Given the description of an element on the screen output the (x, y) to click on. 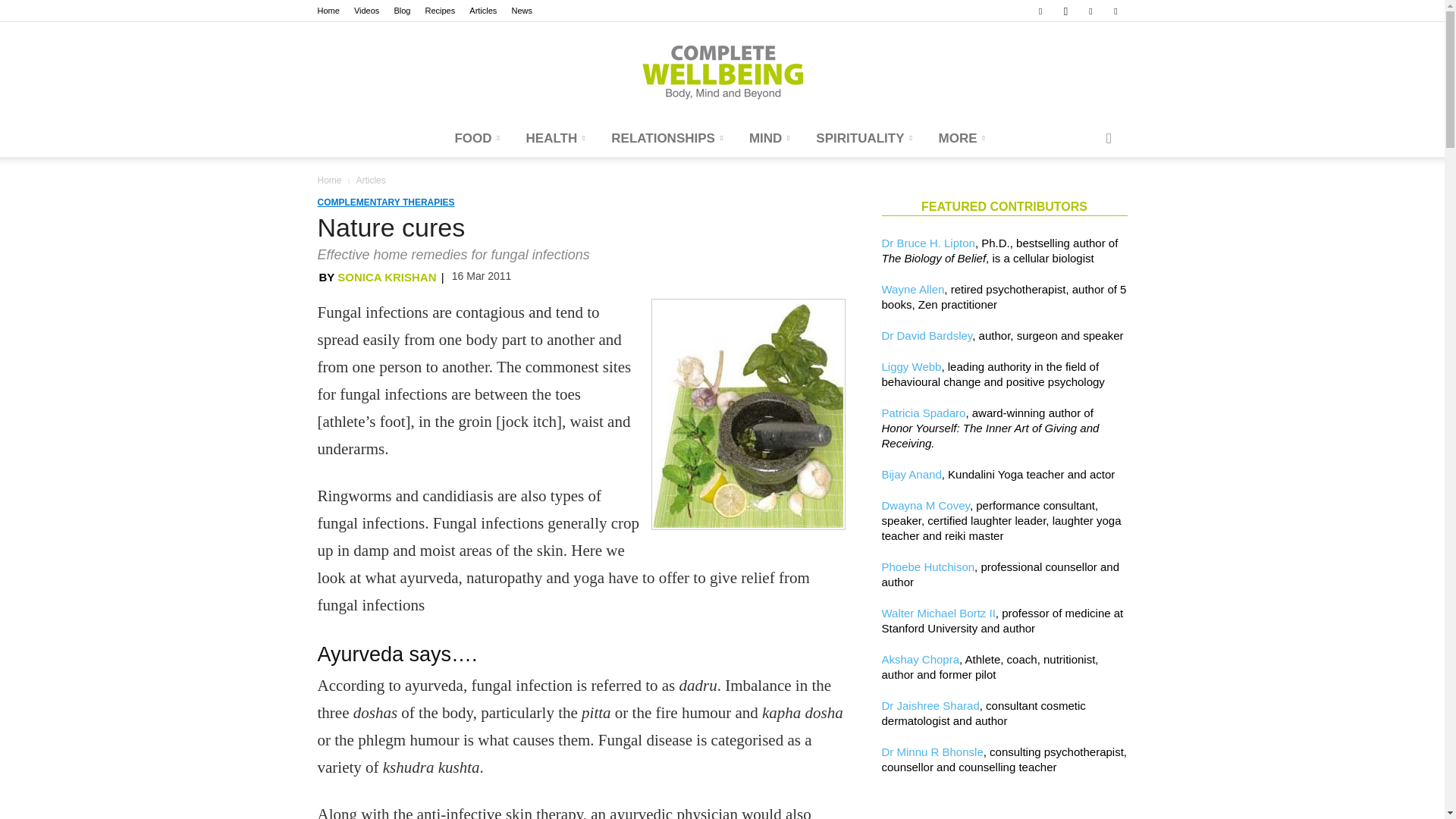
Home (328, 10)
Posts by Sonica Krishan (386, 277)
Blog (401, 10)
BODY, MIND AND BEYOND (721, 71)
Instagram (1065, 10)
Videos (365, 10)
Recipes (439, 10)
Twitter (1114, 10)
Pinterest (1090, 10)
Facebook (1040, 10)
